Given the description of an element on the screen output the (x, y) to click on. 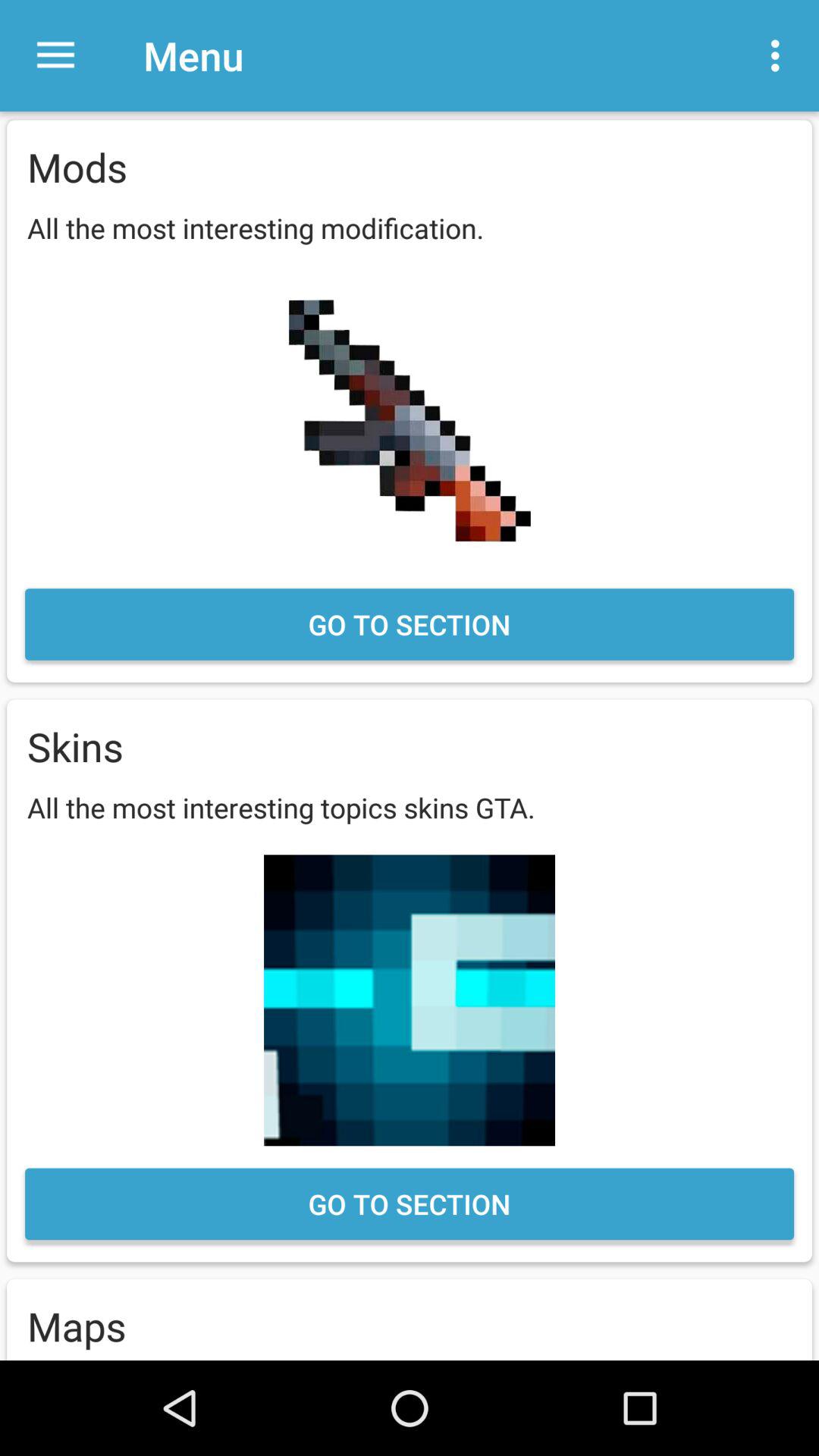
press item next to the menu icon (55, 55)
